Given the description of an element on the screen output the (x, y) to click on. 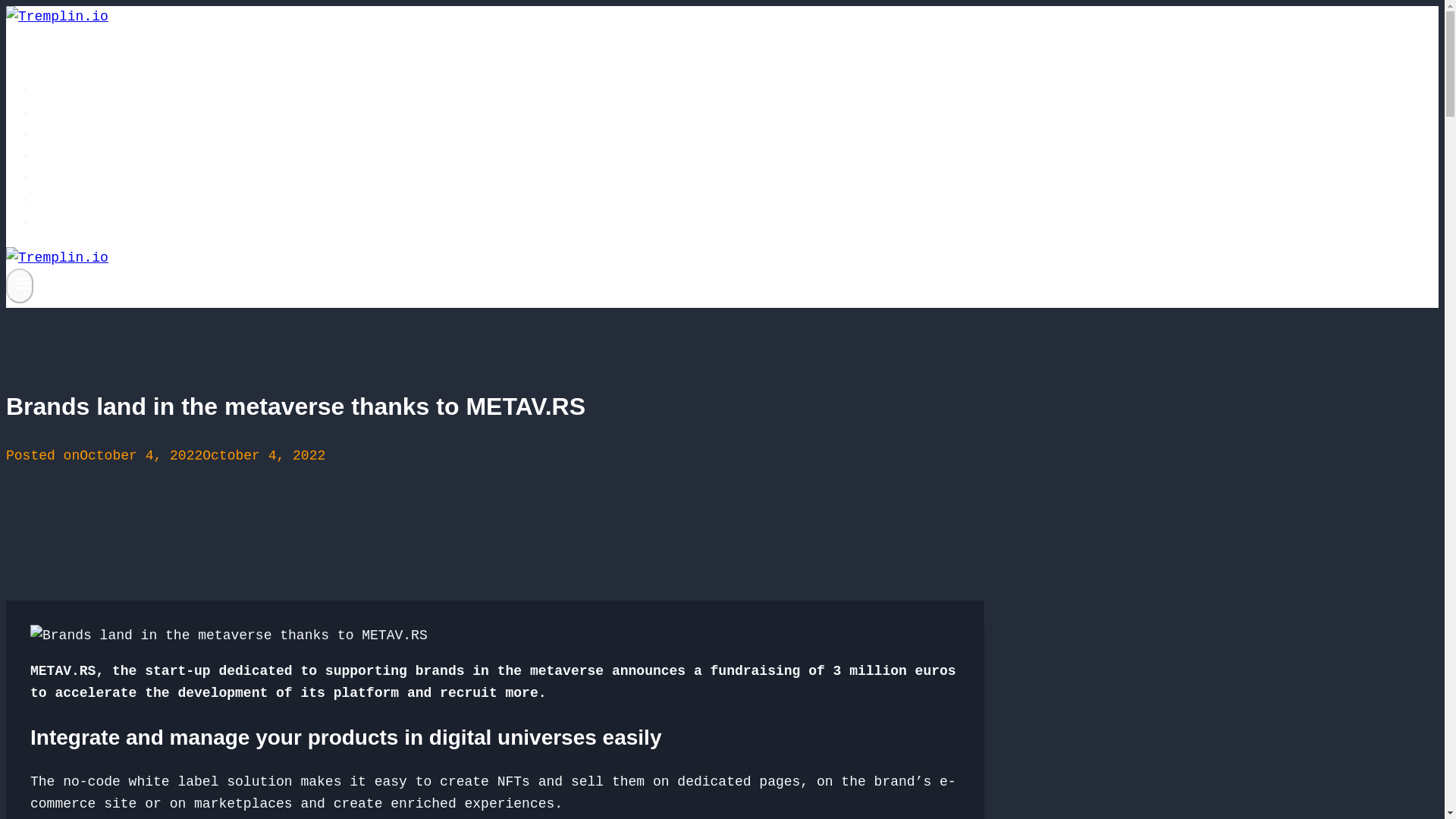
Contact (78, 222)
Who are we? (95, 134)
Tremplin.io (95, 91)
FAQ (61, 156)
Services (82, 112)
News (66, 200)
Consulting (90, 178)
Toggle Menu (22, 283)
